Given the description of an element on the screen output the (x, y) to click on. 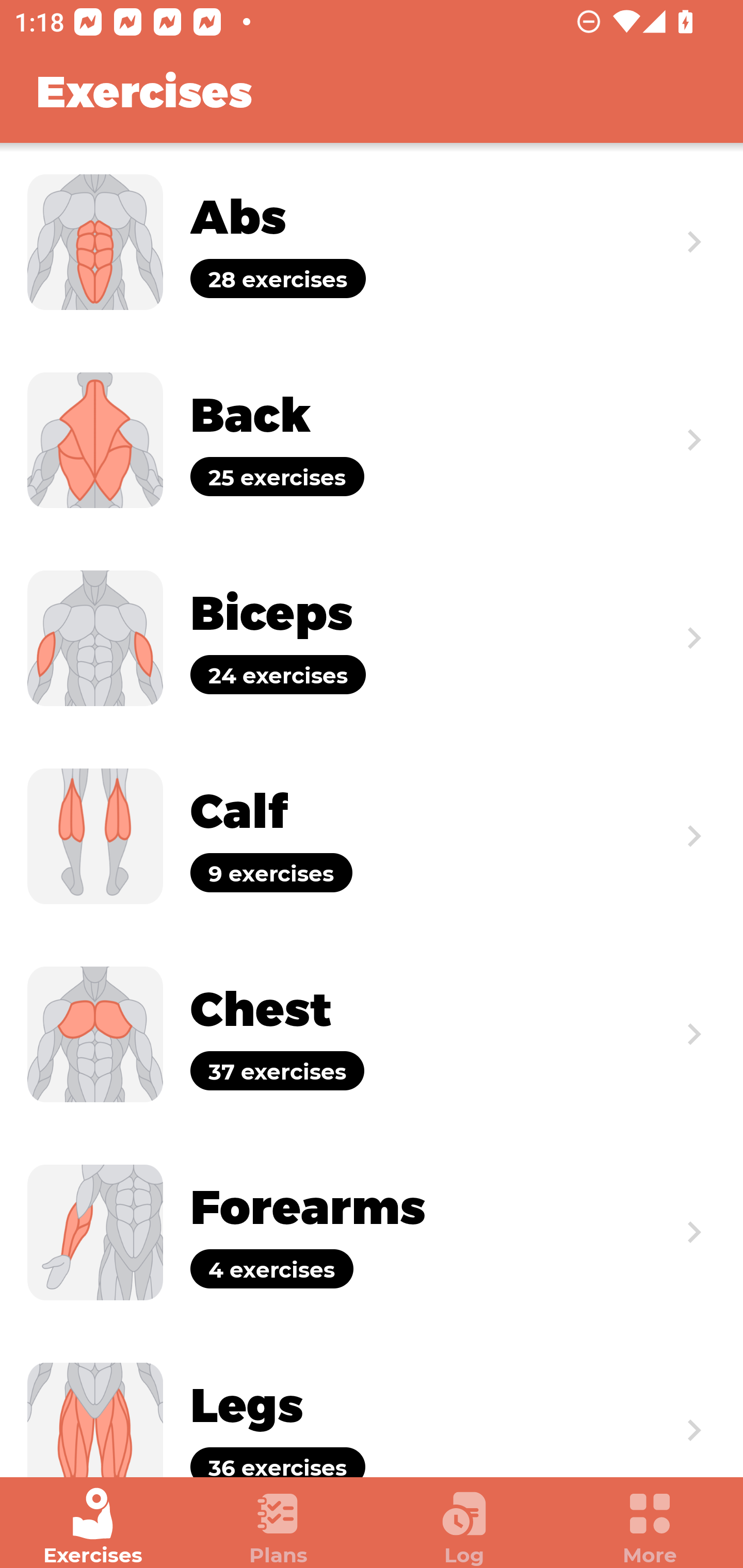
Exercise Abs 28 exercises (371, 241)
Exercise Back 25 exercises (371, 439)
Exercise Biceps 24 exercises (371, 637)
Exercise Calf 9 exercises (371, 836)
Exercise Chest 37 exercises (371, 1033)
Exercise Forearms 4 exercises (371, 1232)
Exercise Legs 36 exercises (371, 1404)
Exercises (92, 1527)
Plans (278, 1527)
Log (464, 1527)
More (650, 1527)
